Given the description of an element on the screen output the (x, y) to click on. 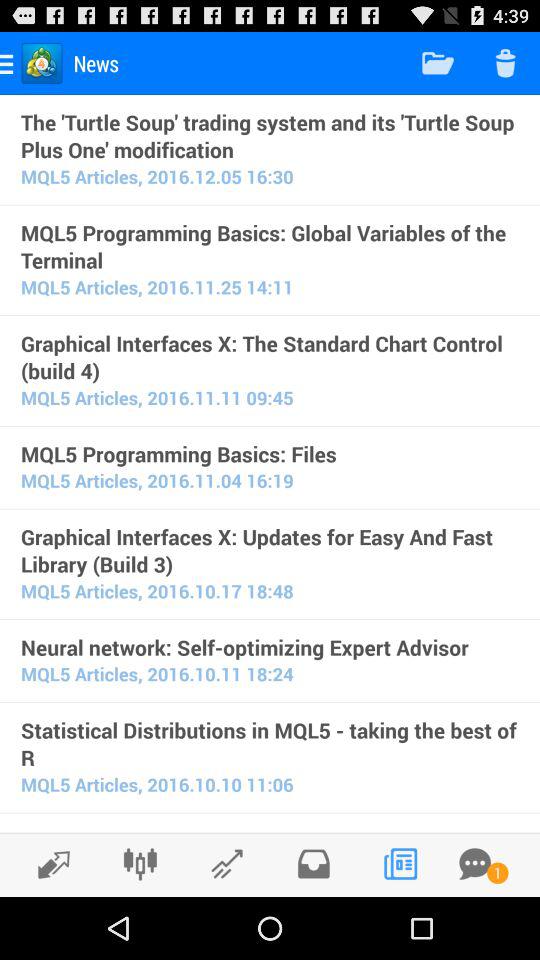
turn on the neural network self (270, 647)
